Given the description of an element on the screen output the (x, y) to click on. 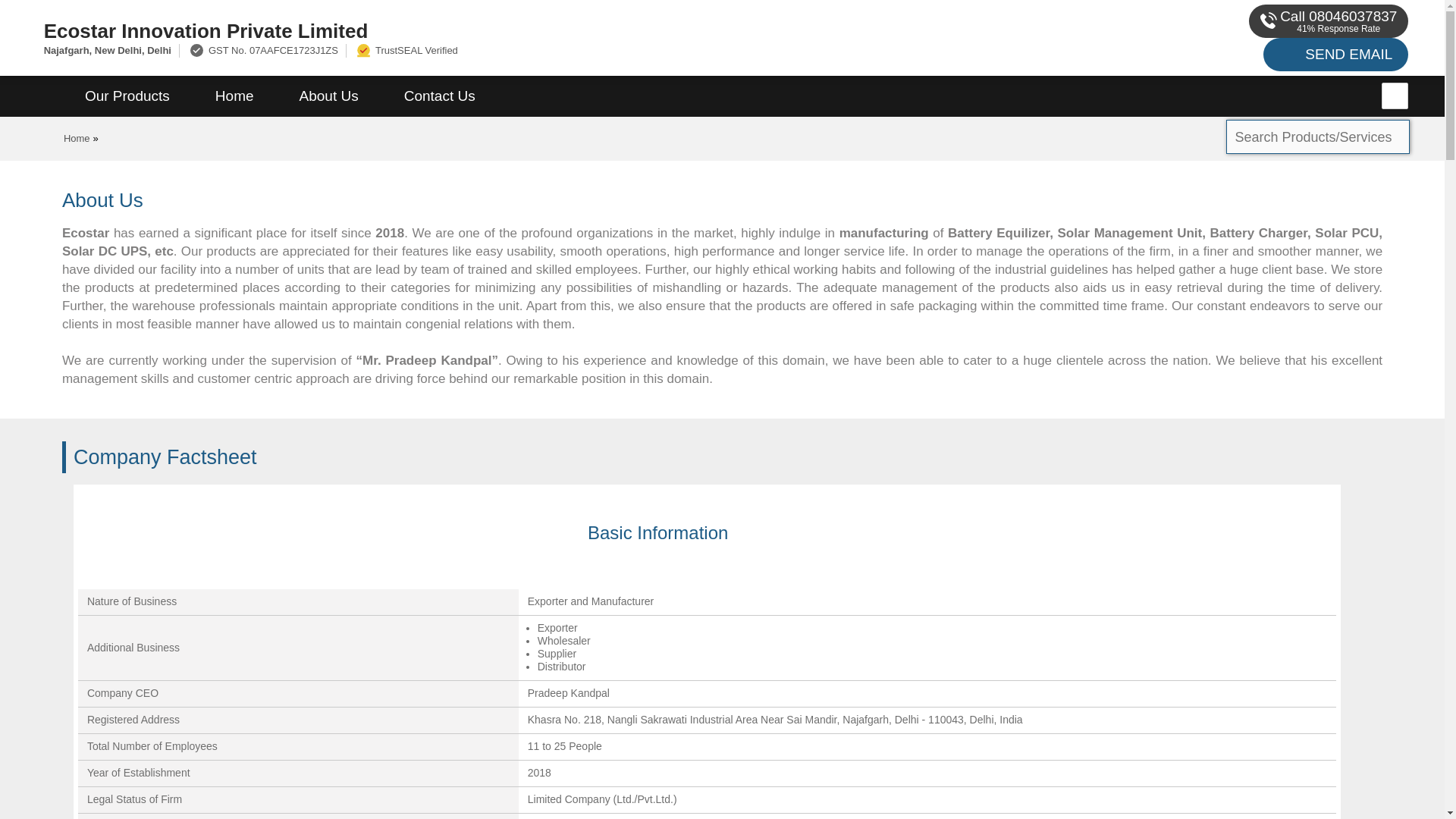
Home (234, 96)
Home (77, 138)
Our Products (127, 96)
Ecostar Innovation Private Limited (480, 31)
Contact Us (439, 96)
About Us (328, 96)
